Given the description of an element on the screen output the (x, y) to click on. 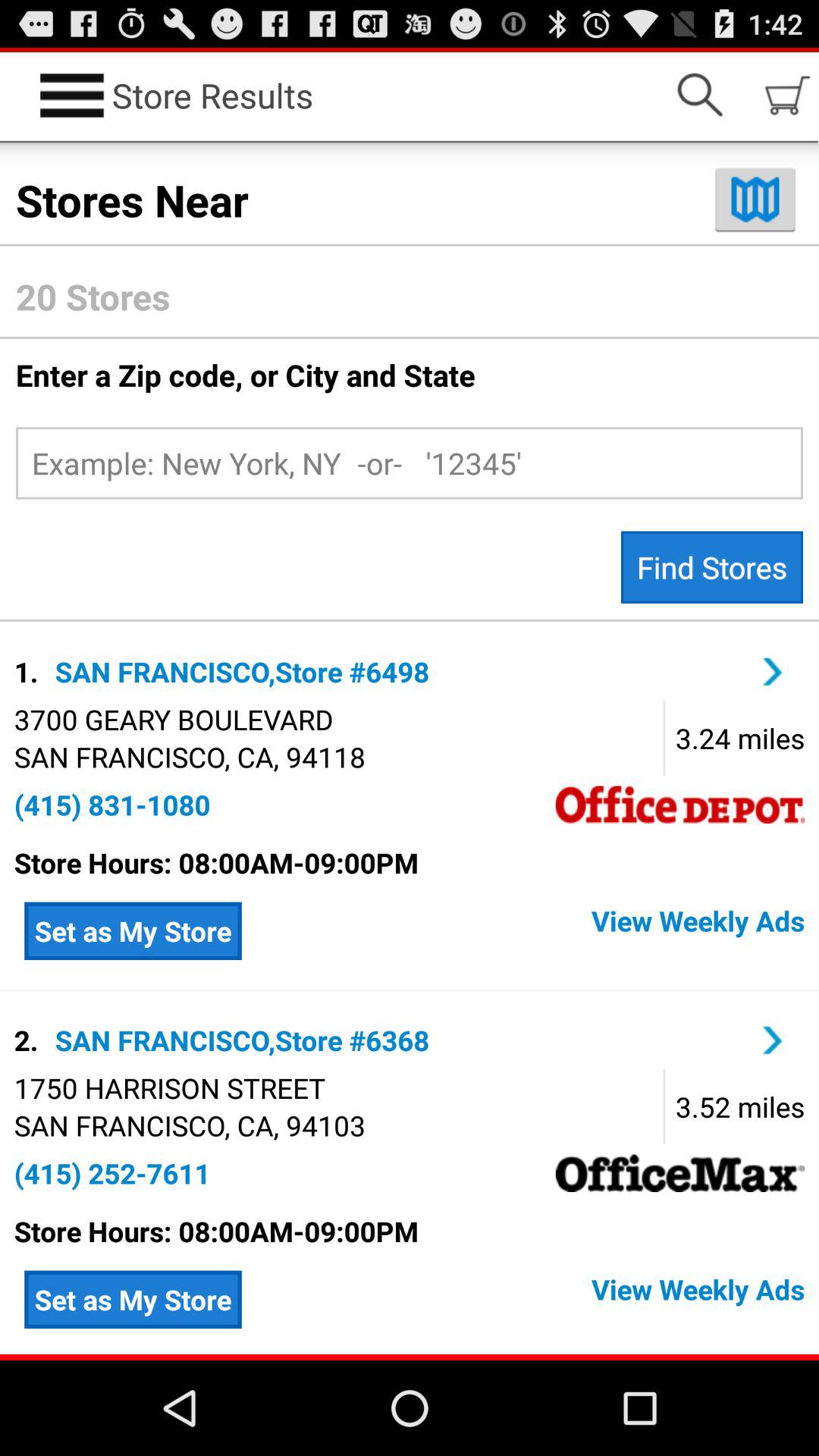
press icon below san francisco ca item (112, 1173)
